Given the description of an element on the screen output the (x, y) to click on. 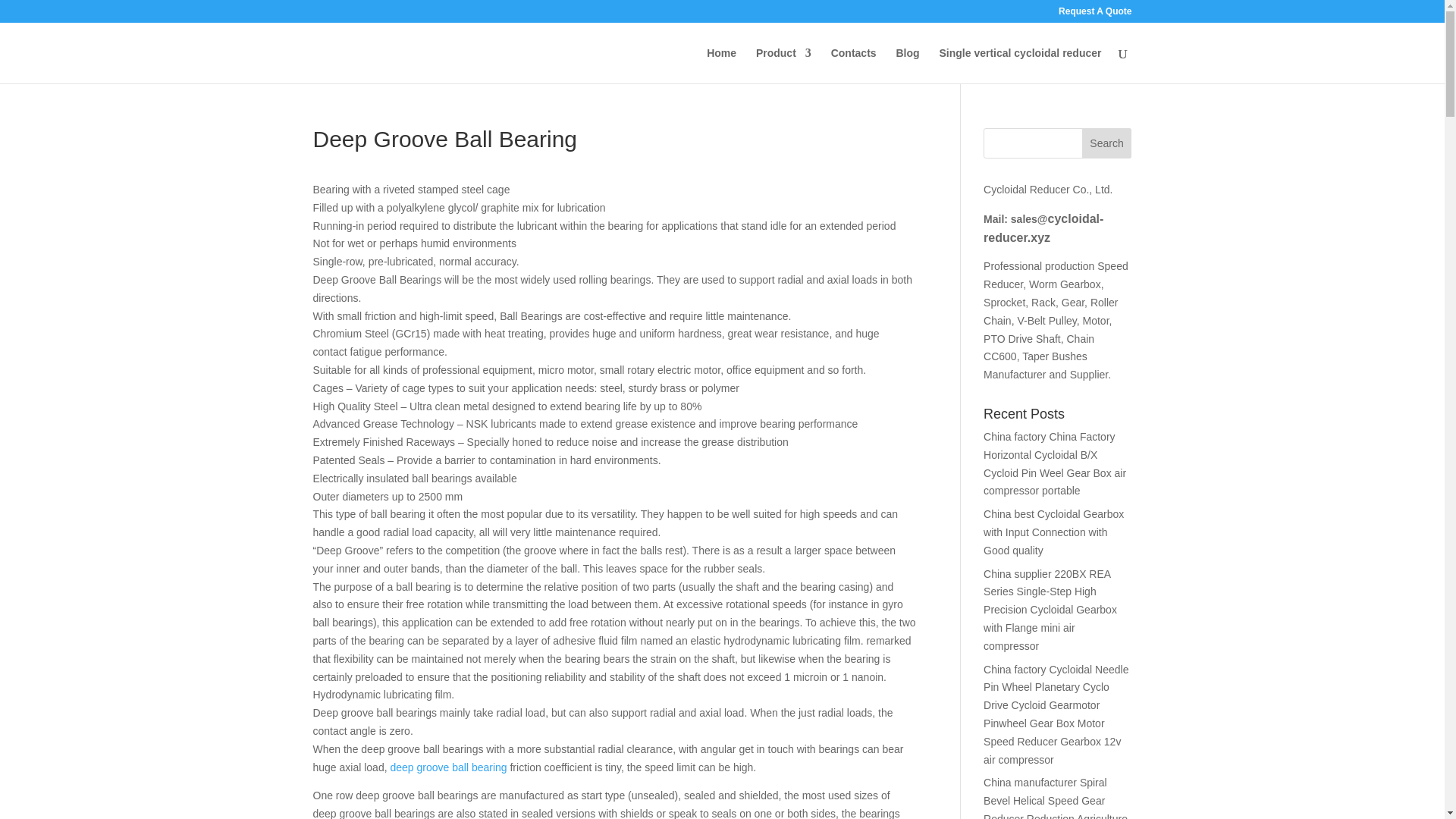
Single vertical cycloidal reducer (1019, 65)
Search (1106, 142)
Product (782, 65)
deep groove ball bearing (448, 767)
Search (1106, 142)
Request A Quote (1094, 14)
Contacts (853, 65)
